Given the description of an element on the screen output the (x, y) to click on. 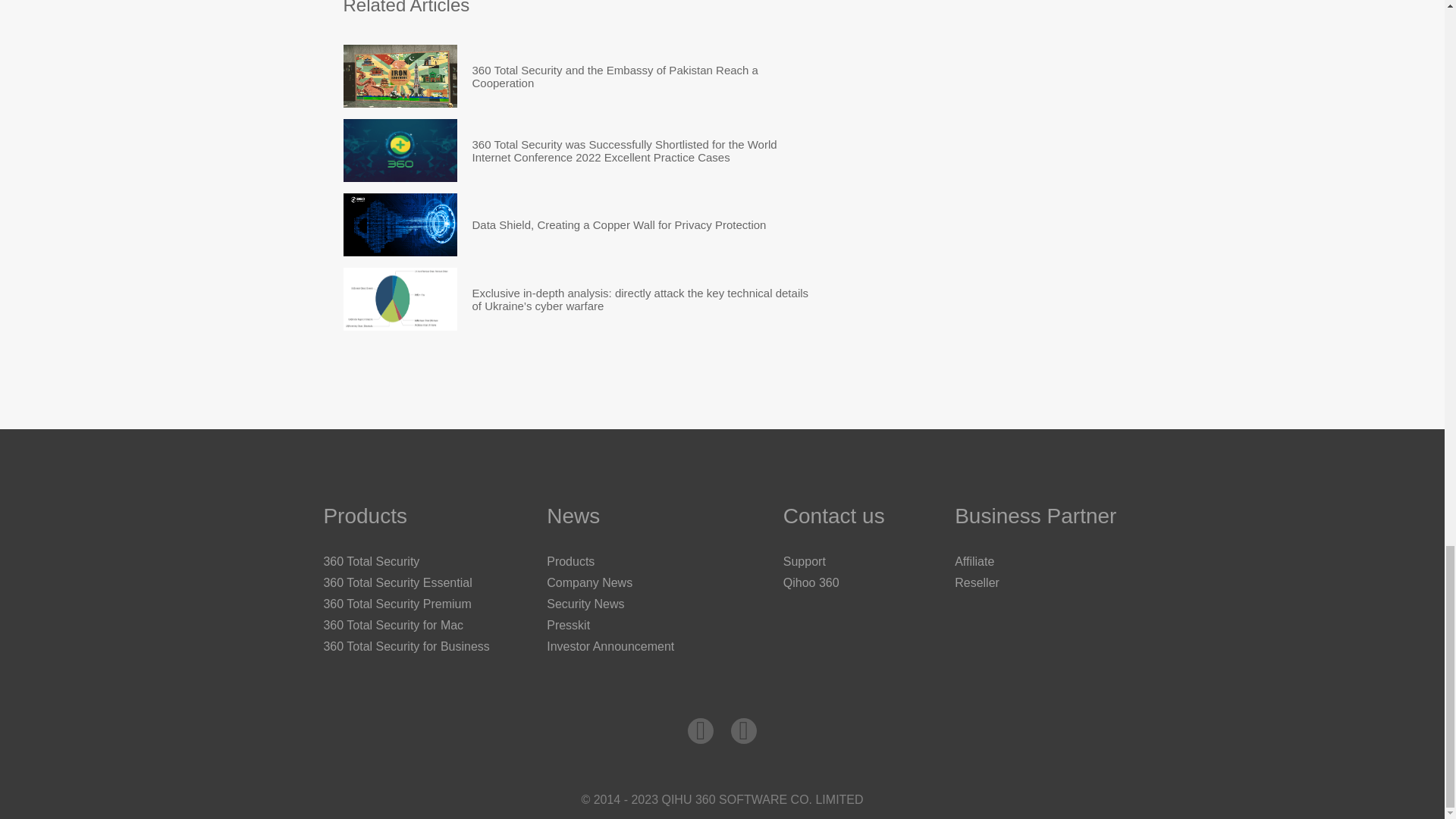
360 Total Security (371, 561)
Data Shield, Creating a Copper Wall for Privacy Protection (618, 224)
Data Shield, Creating a Copper Wall for Privacy Protection (618, 224)
Data Shield, Creating a Copper Wall for Privacy Protection (399, 224)
